Given the description of an element on the screen output the (x, y) to click on. 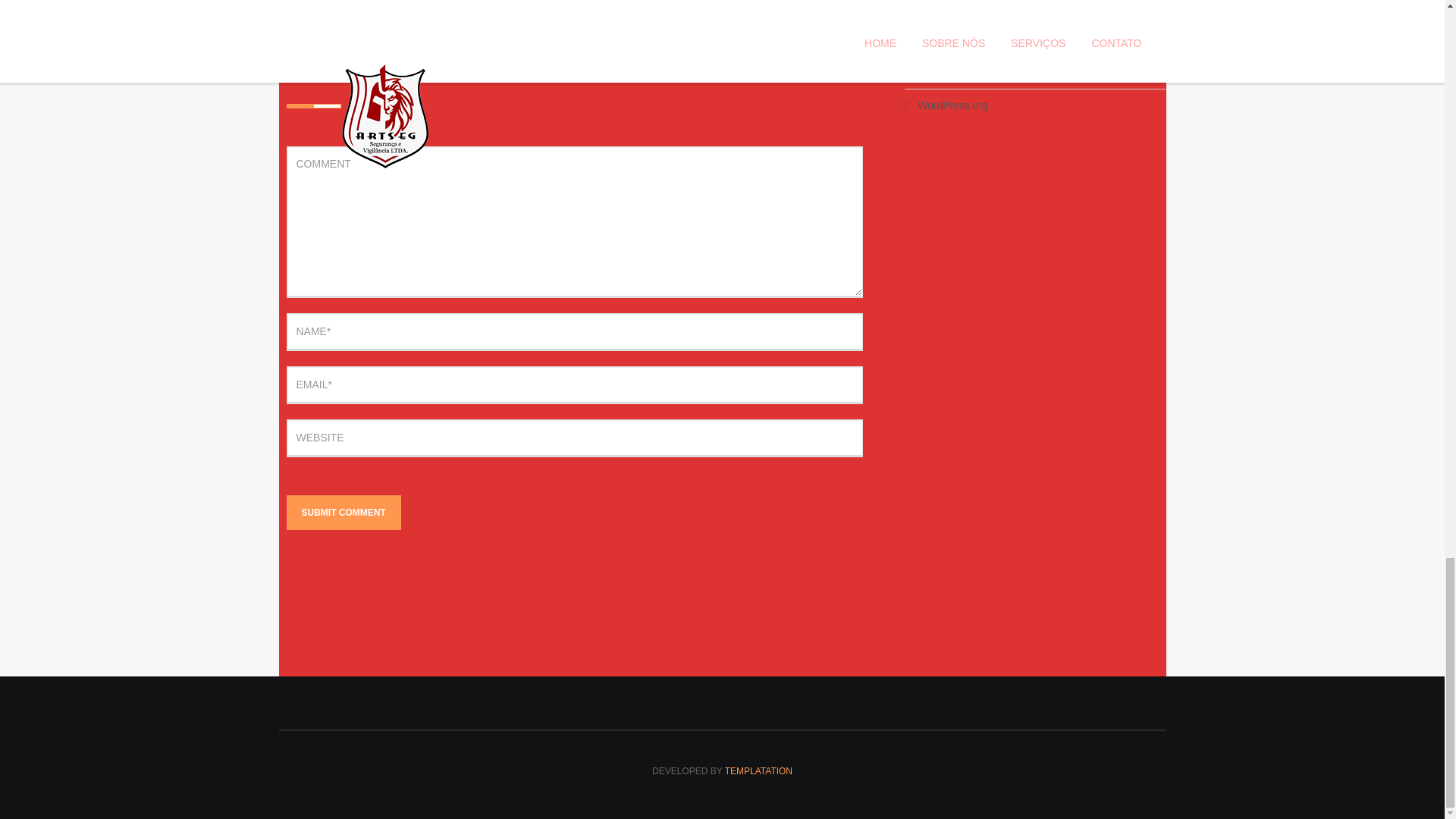
Submit Comment (343, 512)
Submit Comment (343, 512)
